Given the description of an element on the screen output the (x, y) to click on. 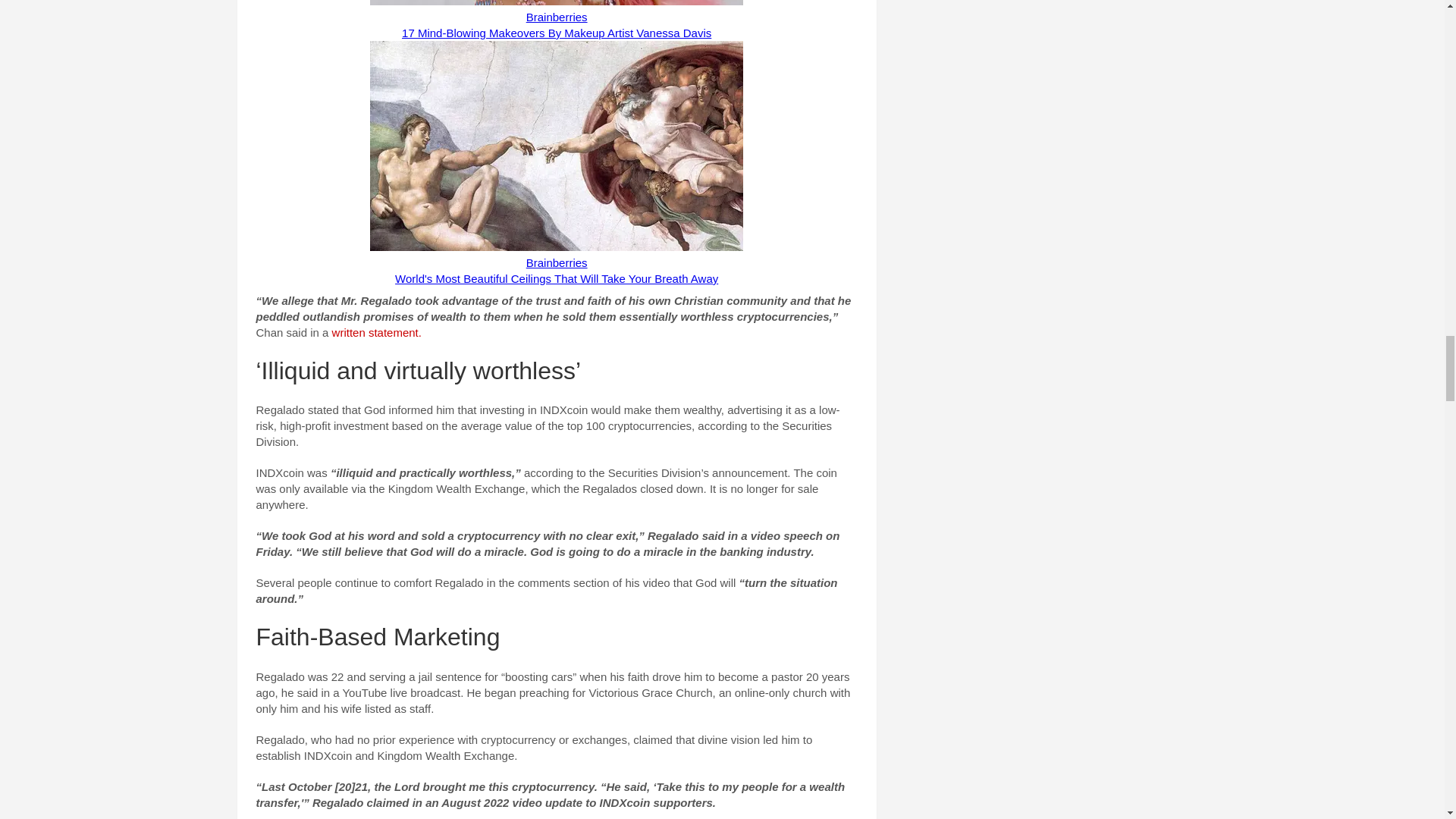
written statement. (376, 332)
